Given the description of an element on the screen output the (x, y) to click on. 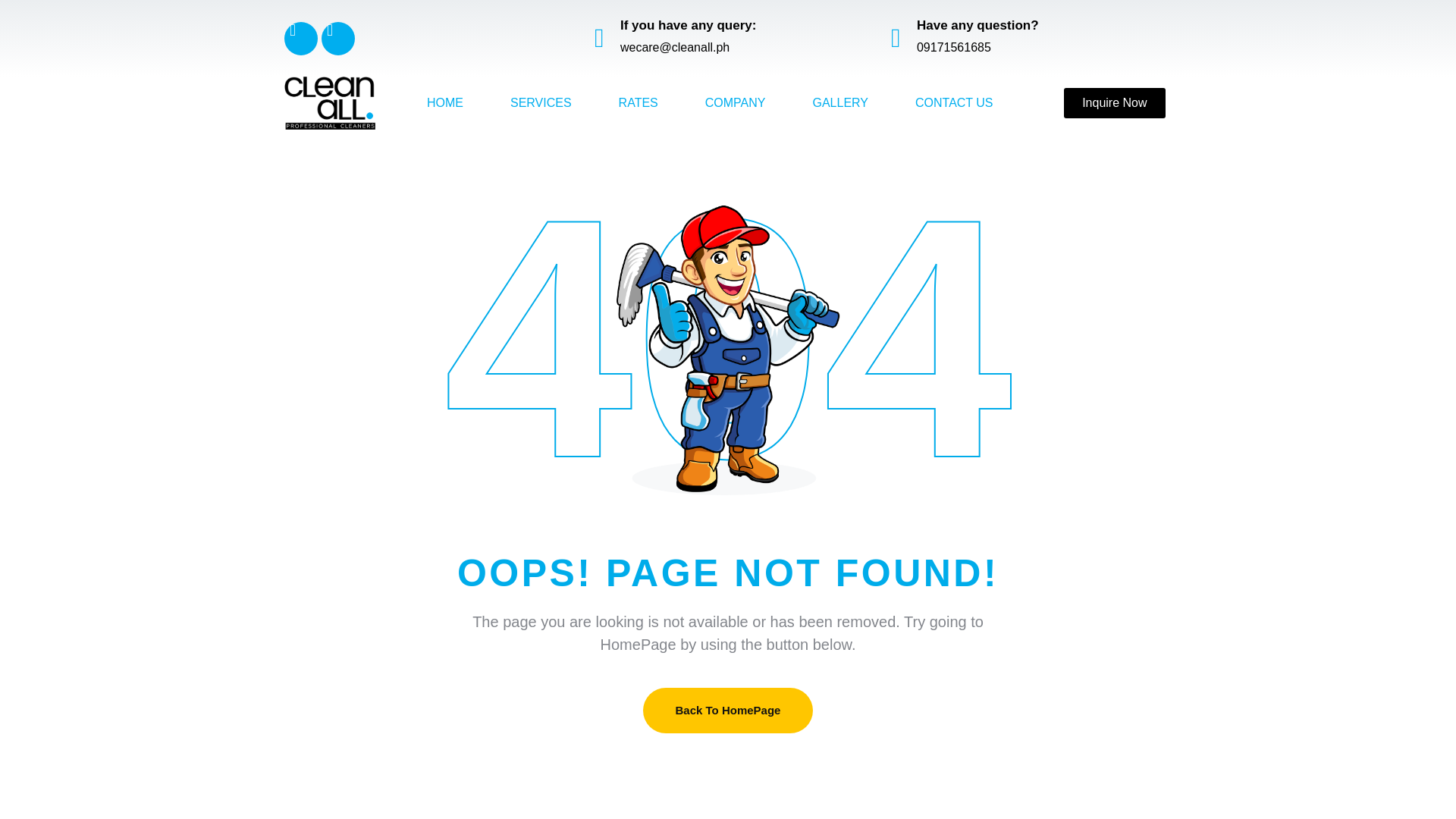
Have any question? (978, 25)
SERVICES (540, 102)
COMPANY (735, 102)
If you have any query: (688, 25)
CONTACT US (953, 102)
GALLERY (840, 102)
RATES (638, 102)
Inquire Now (1114, 102)
Back To HomePage (728, 710)
HOME (444, 102)
